Given the description of an element on the screen output the (x, y) to click on. 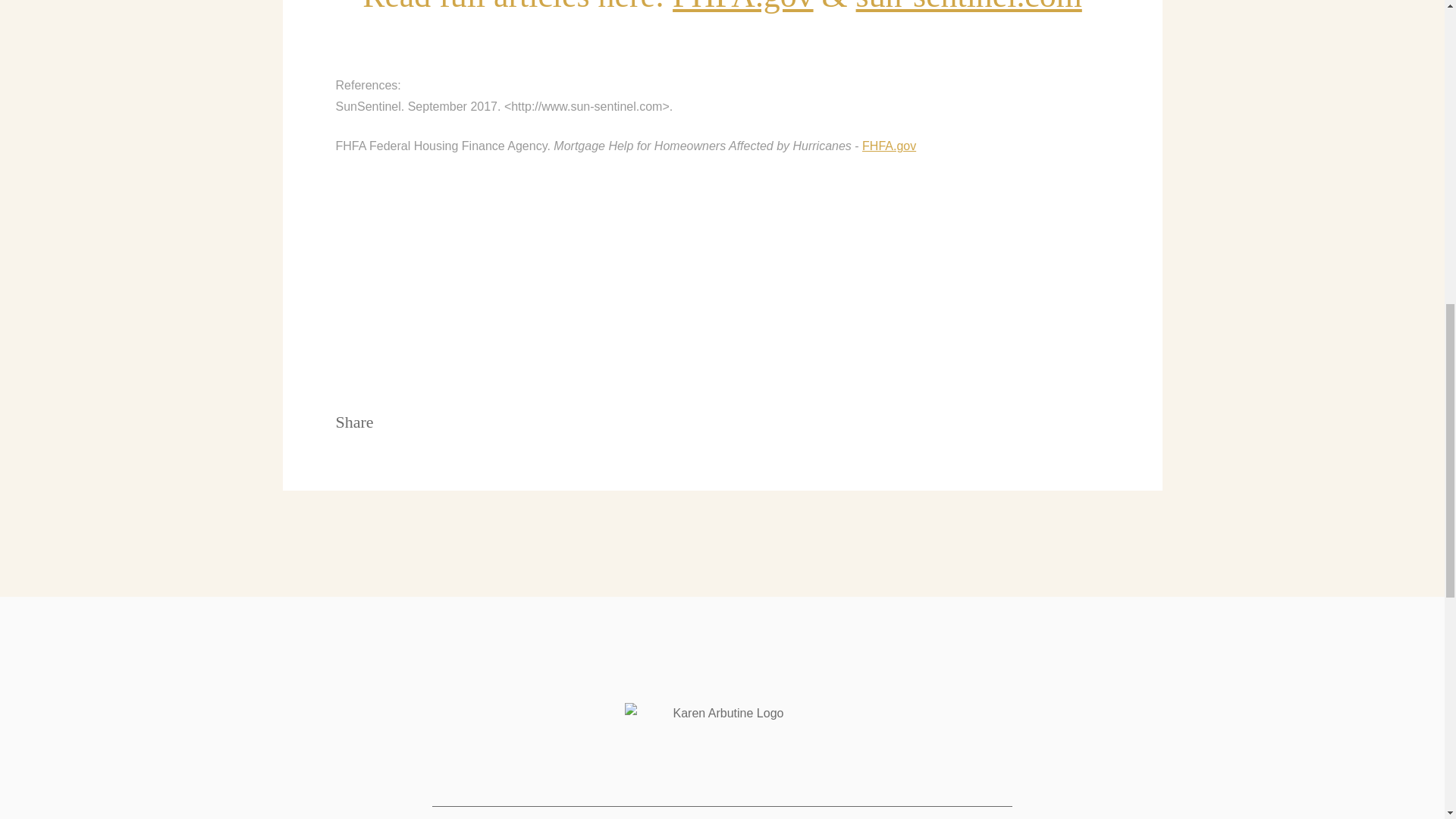
FHFA.gov (742, 6)
sun-sentinel.com (968, 6)
FHFA.gov (888, 145)
